Given the description of an element on the screen output the (x, y) to click on. 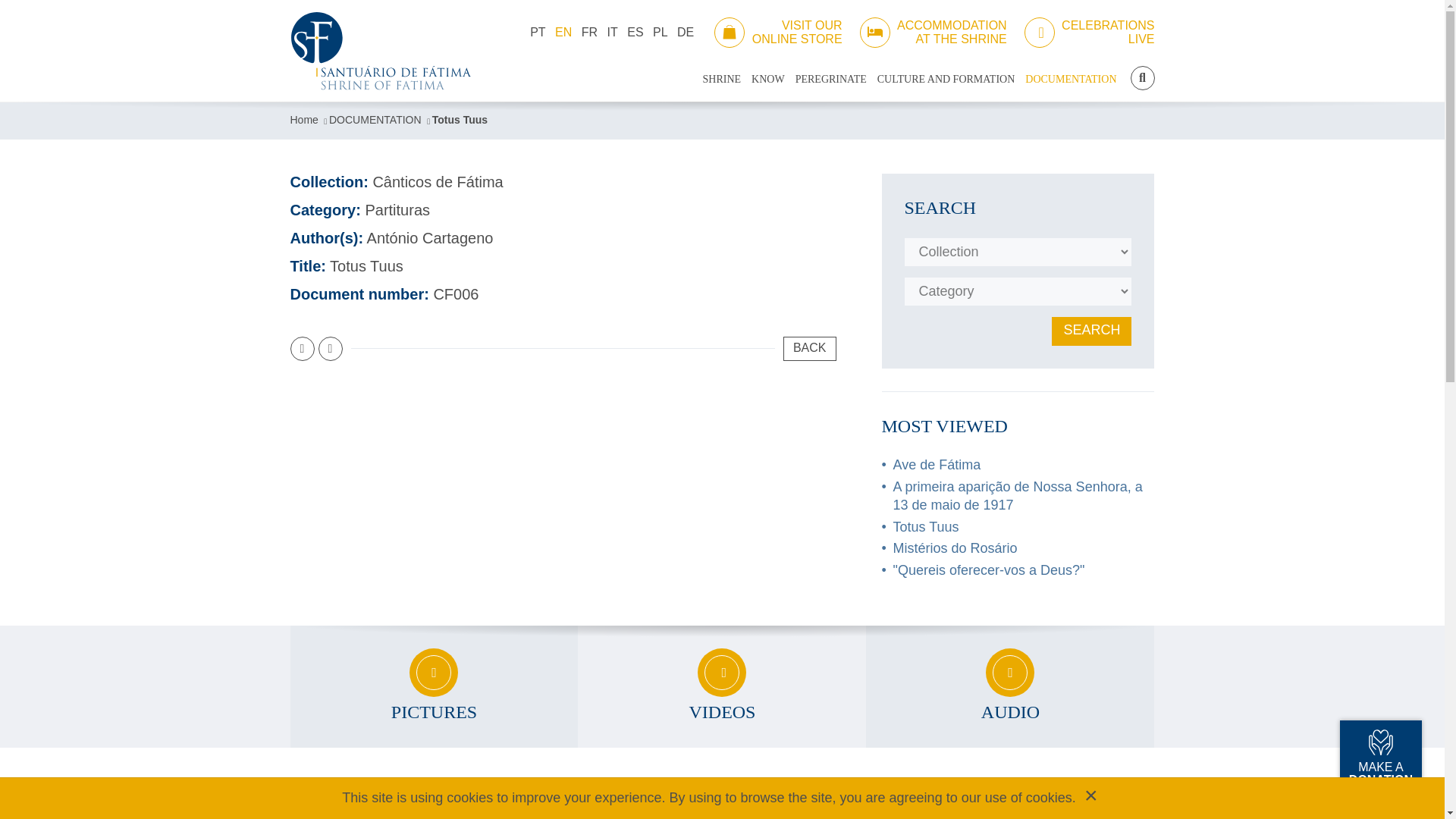
PL (660, 32)
KNOW (767, 79)
DE (685, 32)
SEARCH (1141, 78)
EN (563, 32)
FR (588, 32)
IT (1089, 32)
PT (612, 32)
PEREGRINATE (537, 32)
